Given the description of an element on the screen output the (x, y) to click on. 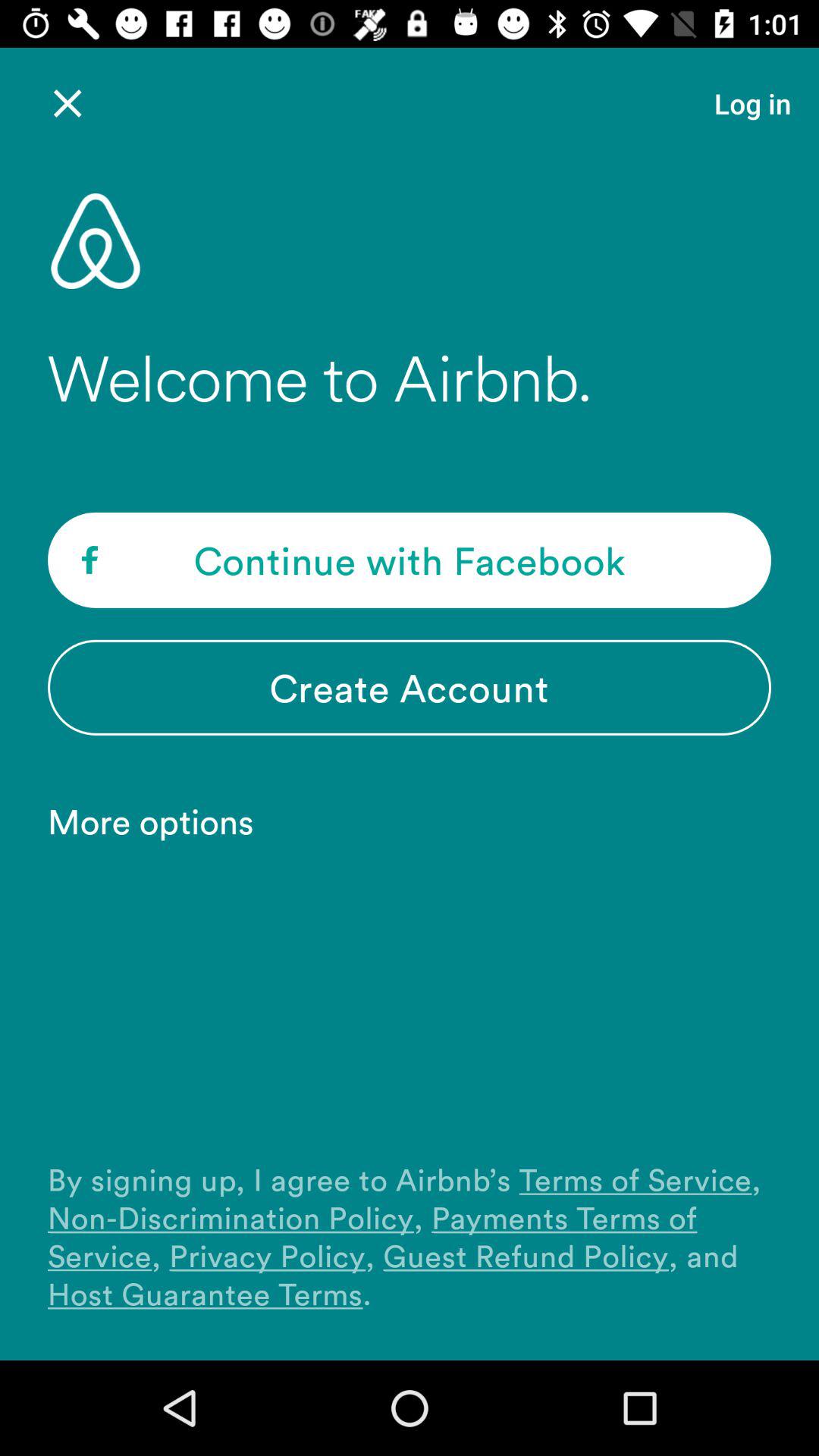
turn off the icon next to the log in item (67, 103)
